Given the description of an element on the screen output the (x, y) to click on. 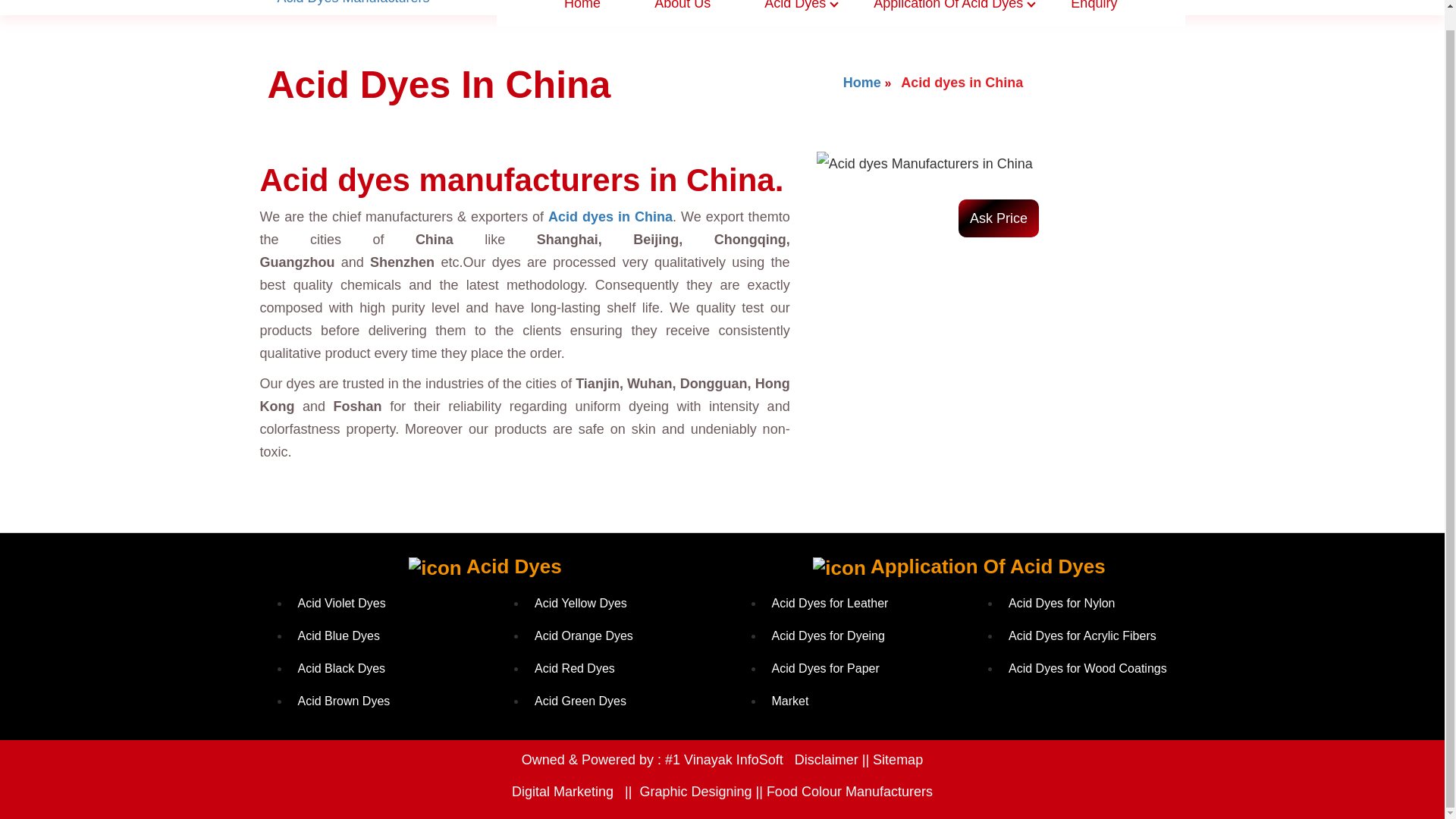
About Us (681, 11)
Application Of Acid Dyes (945, 11)
Acid Violet Dyes (341, 603)
Home (869, 82)
Acid Red Dyes (574, 667)
Acid Green Dyes (580, 700)
Acid Yellow Dyes (580, 603)
Ask Price (998, 218)
Home (582, 11)
Acid Orange Dyes (583, 635)
